Given the description of an element on the screen output the (x, y) to click on. 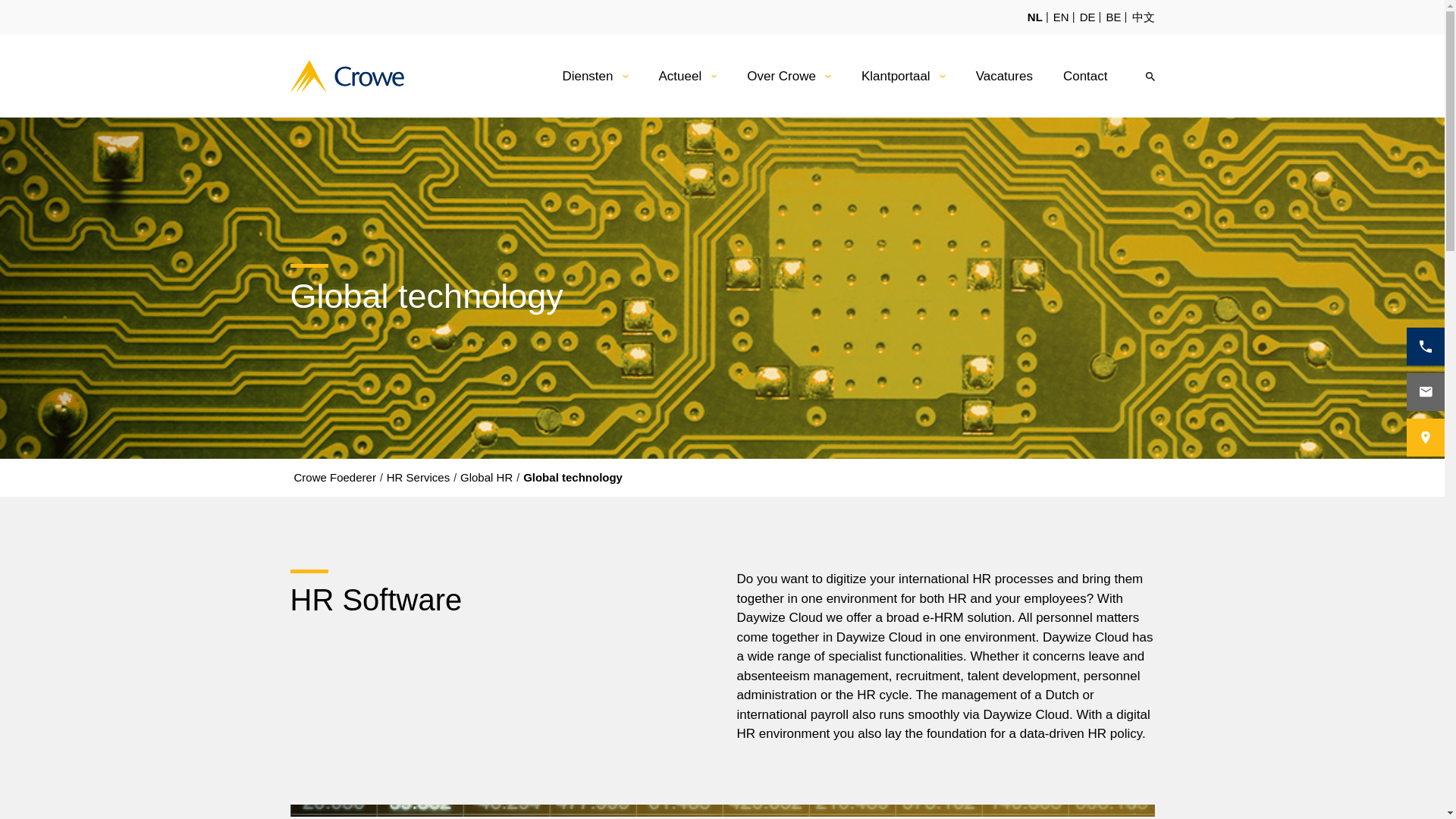
Go to HR Services. (417, 477)
DE (1088, 16)
Go to Global HR. (486, 477)
Vacatures (1003, 75)
Go to Crowe Foederer. (333, 477)
NL (1034, 16)
Klantportaal (895, 75)
Diensten (587, 75)
Actueel (679, 75)
Contact (1085, 75)
